Given the description of an element on the screen output the (x, y) to click on. 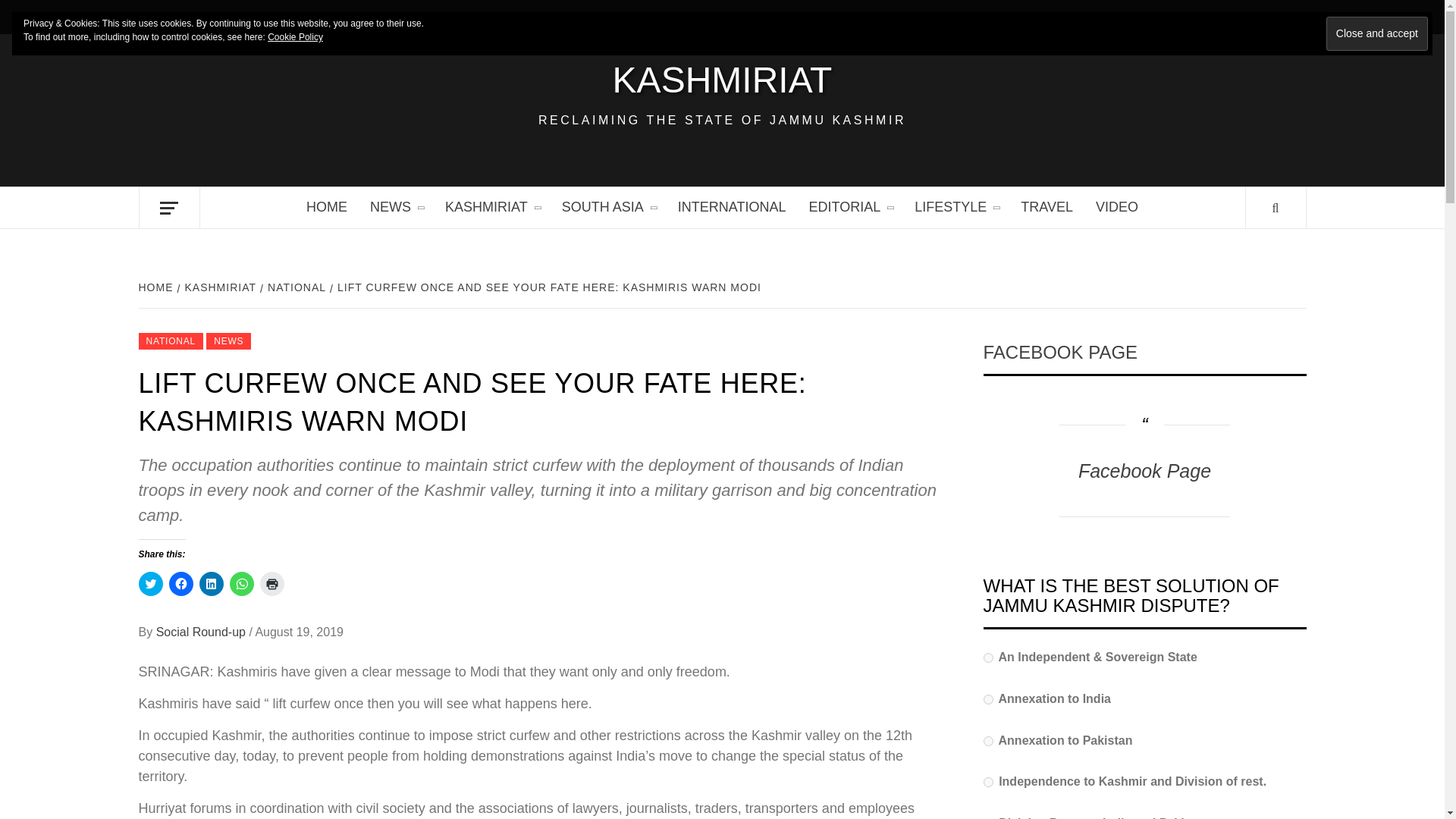
Click to share on Twitter (149, 583)
HOME (326, 207)
Click to share on Facebook (180, 583)
EDITORIAL (849, 207)
About Us (278, 17)
LIFESTYLE (955, 207)
NEWS (395, 207)
NATIONAL (170, 340)
NEWS (228, 340)
NATIONAL (295, 287)
